Given the description of an element on the screen output the (x, y) to click on. 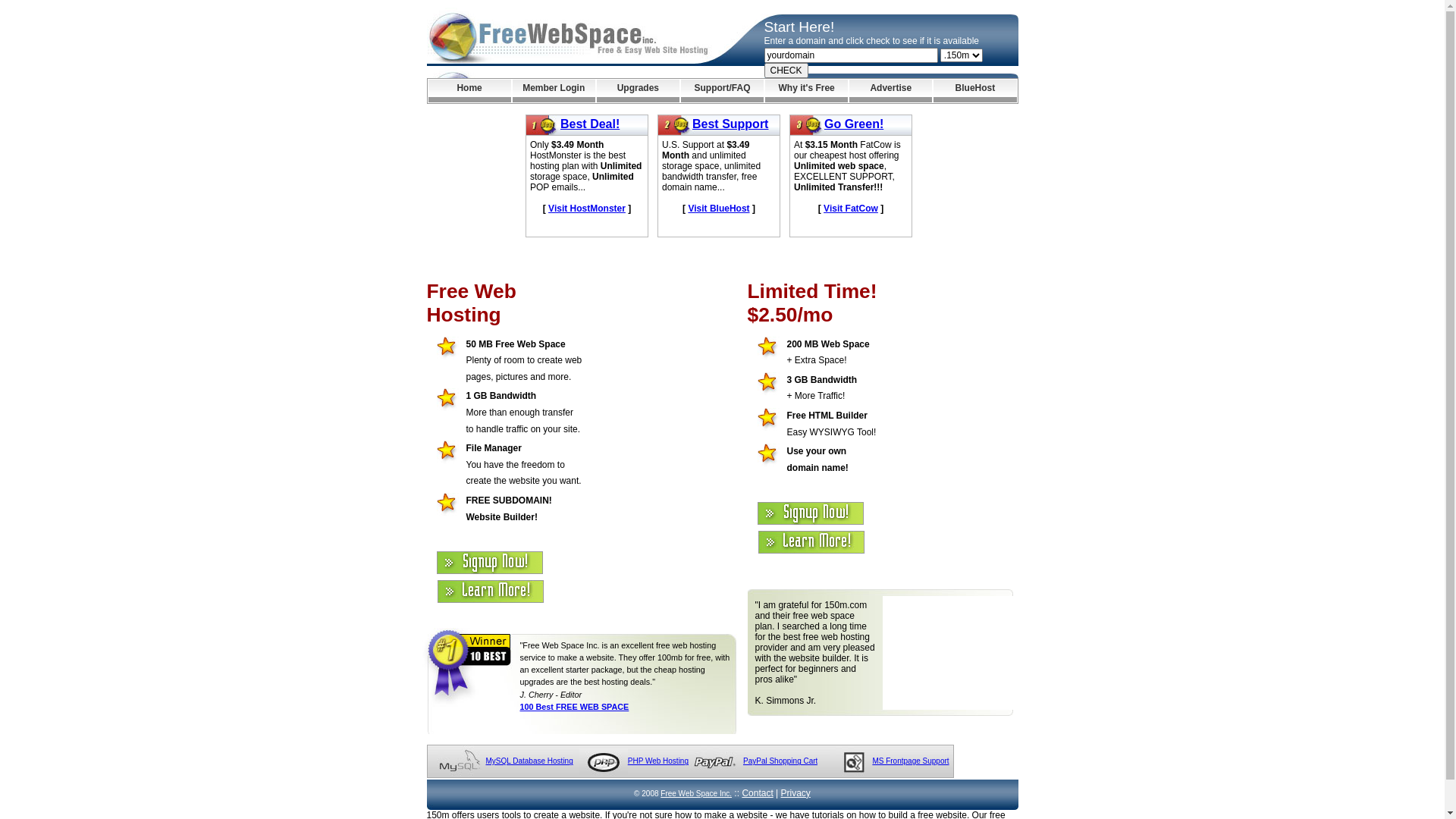
Upgrades Element type: text (637, 90)
Support/FAQ Element type: text (721, 90)
Contact Element type: text (756, 792)
Privacy Element type: text (795, 792)
100 Best FREE WEB SPACE Element type: text (574, 706)
CHECK Element type: text (786, 70)
Free Web Space Inc. Element type: text (695, 793)
PHP Web Hosting Element type: text (657, 760)
Member Login Element type: text (553, 90)
Why it's Free Element type: text (806, 90)
MySQL Database Hosting Element type: text (528, 760)
MS Frontpage Support Element type: text (910, 760)
Home Element type: text (468, 90)
Advertise Element type: text (890, 90)
BlueHost Element type: text (974, 90)
PayPal Shopping Cart Element type: text (780, 760)
